Given the description of an element on the screen output the (x, y) to click on. 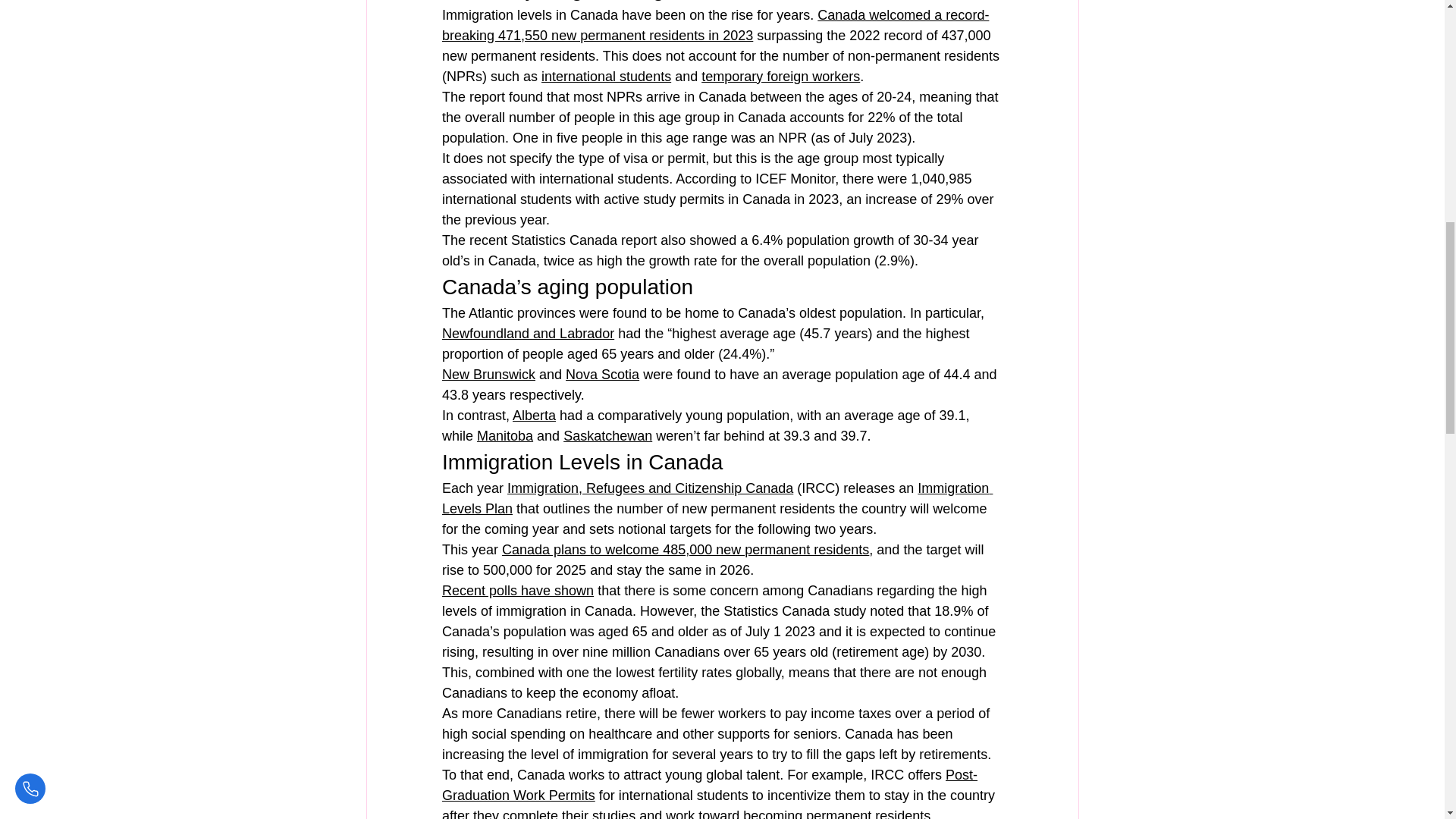
Immigration Levels Plan (716, 498)
Alberta (534, 415)
Canada plans to welcome 485,000 new permanent residents (685, 549)
Newfoundland and Labrador (526, 333)
Immigration, Refugees and Citizenship Canada (649, 488)
Post-Graduation Work Permits (708, 785)
Manitoba (504, 435)
New Brunswick (487, 374)
becoming permanent residents (836, 813)
Nova Scotia (602, 374)
temporary foreign workers (780, 76)
Saskatchewan (607, 435)
international students (606, 76)
Recent polls have shown (516, 590)
